Given the description of an element on the screen output the (x, y) to click on. 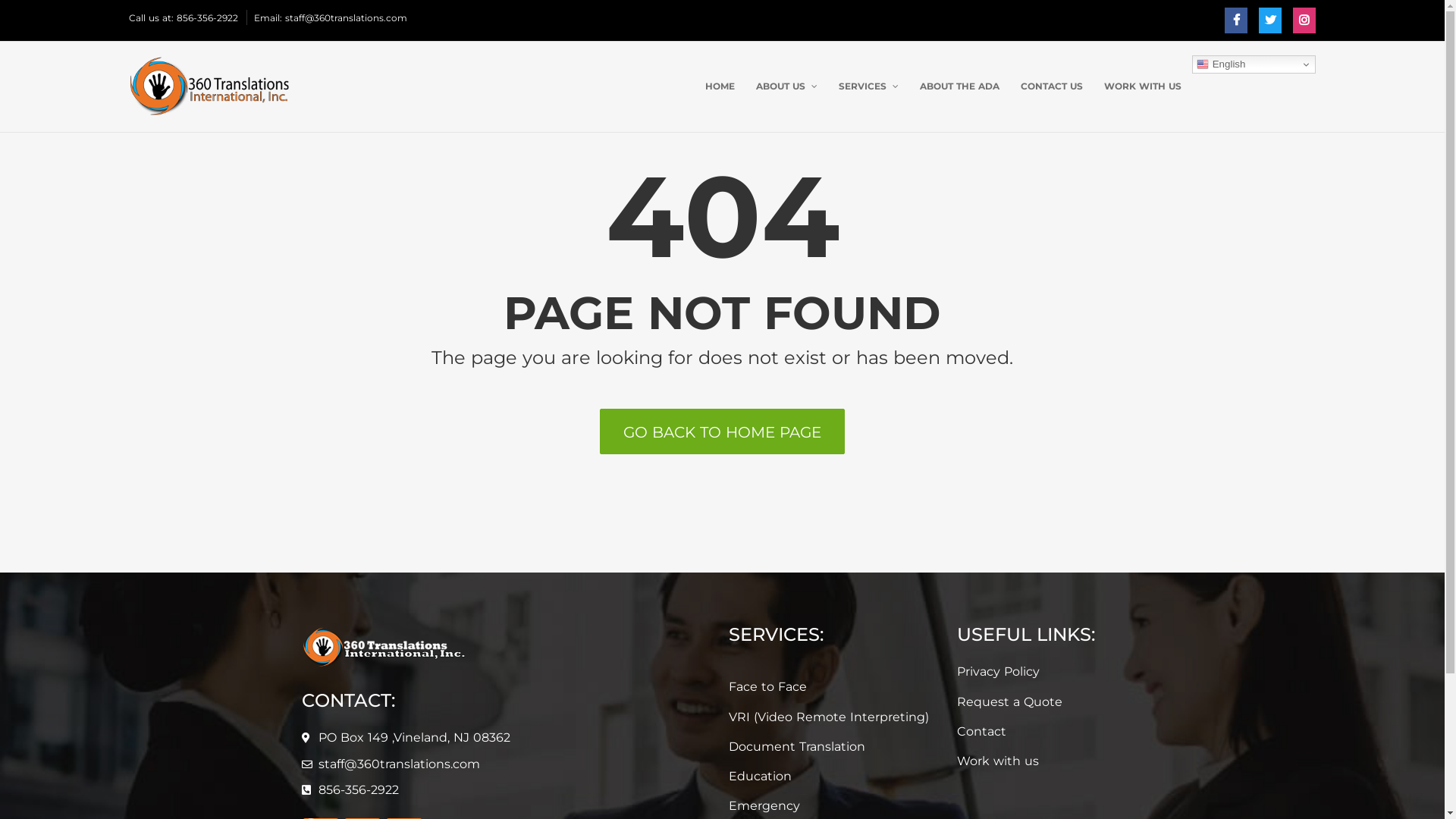
Privacy Policy Element type: text (1046, 671)
staff@360translations.com Element type: text (399, 763)
ABOUT US Element type: text (786, 86)
CONTACT US Element type: text (1051, 86)
Facebook Element type: hover (1235, 20)
Education Element type: text (835, 776)
Work with us Element type: text (1046, 761)
English Element type: text (1253, 64)
Instagram Element type: hover (1303, 20)
Contact Element type: text (1046, 731)
GO BACK TO HOME PAGE Element type: text (721, 431)
VRI (Video Remote Interpreting) Element type: text (835, 717)
ABOUT THE ADA Element type: text (959, 86)
HOME Element type: text (719, 86)
Face to Face Element type: text (835, 686)
Call us at: 856-356-2922 Element type: text (183, 18)
Twitter Element type: hover (1269, 20)
WORK WITH US Element type: text (1142, 86)
SERVICES Element type: text (868, 86)
Request a Quote Element type: text (1046, 702)
Email: staff@360translations.com Element type: text (330, 18)
Document Translation Element type: text (835, 746)
360 Translations Element type: hover (209, 86)
